Given the description of an element on the screen output the (x, y) to click on. 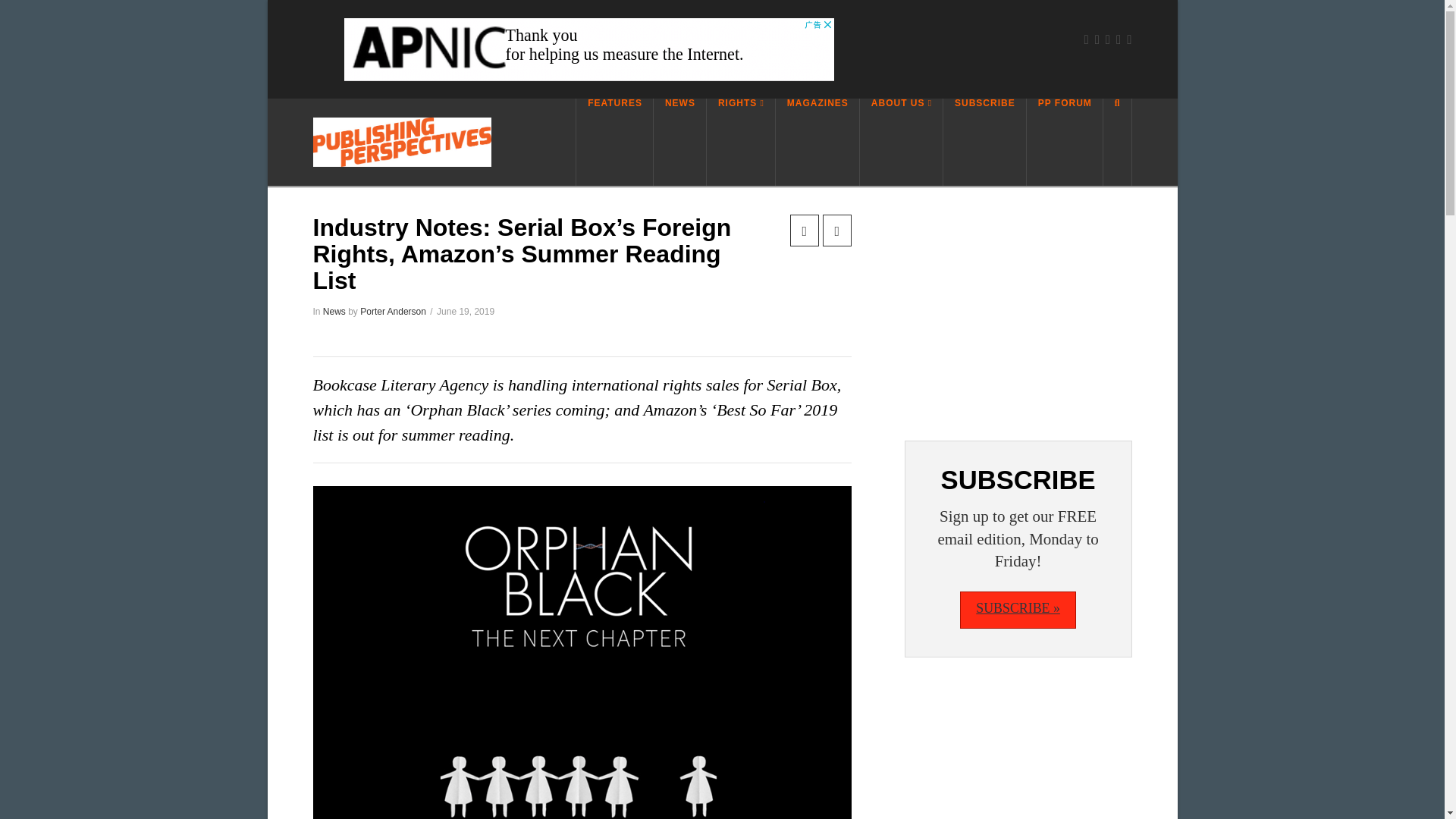
FEATURES (614, 141)
MAGAZINES (818, 141)
Porter Anderson (392, 311)
ABOUT US (901, 141)
SUBSCRIBE (984, 141)
3rd party ad content (588, 49)
3rd party ad content (1018, 309)
3rd party ad content (1018, 756)
News (334, 311)
